Given the description of an element on the screen output the (x, y) to click on. 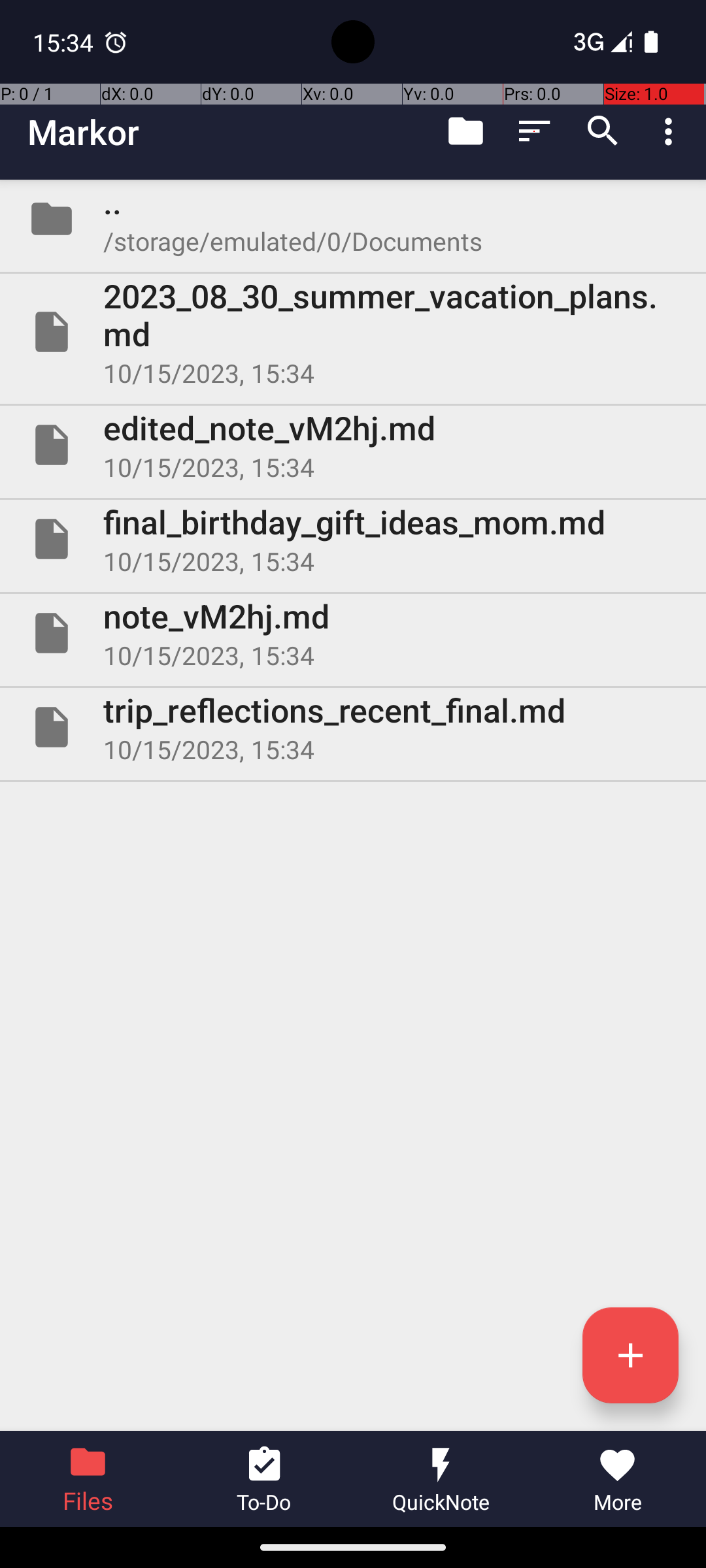
File 2023_08_30_summer_vacation_plans.md  Element type: android.widget.LinearLayout (353, 331)
File edited_note_vM2hj.md  Element type: android.widget.LinearLayout (353, 444)
File final_birthday_gift_ideas_mom.md  Element type: android.widget.LinearLayout (353, 538)
File note_vM2hj.md  Element type: android.widget.LinearLayout (353, 632)
File trip_reflections_recent_final.md  Element type: android.widget.LinearLayout (353, 726)
